Given the description of an element on the screen output the (x, y) to click on. 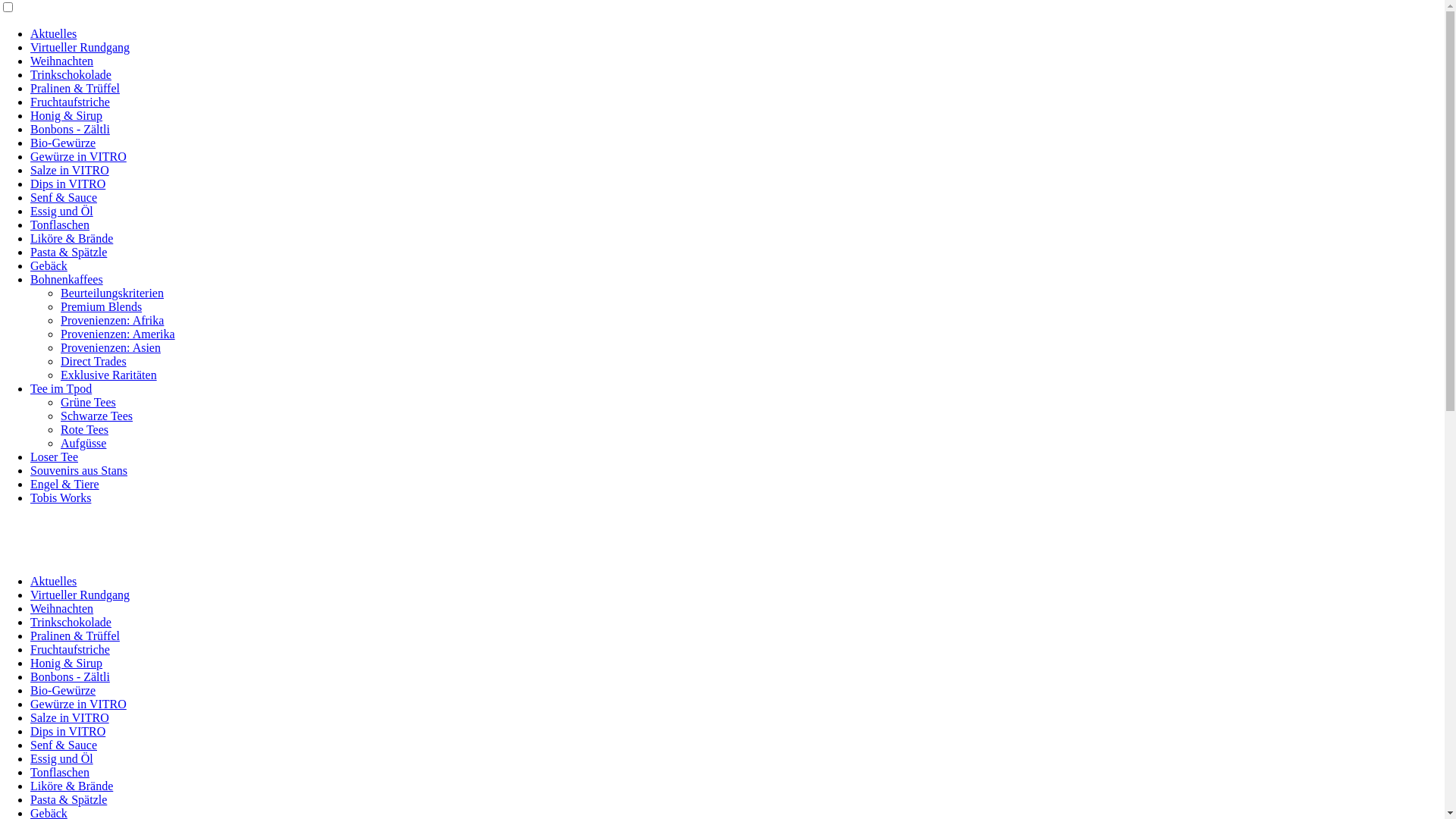
Honig & Sirup Element type: text (66, 115)
Honig & Sirup Element type: text (66, 662)
Schwarze Tees Element type: text (96, 415)
Dips in VITRO Element type: text (67, 183)
Virtueller Rundgang Element type: text (79, 594)
Fruchtaufstriche Element type: text (69, 649)
Engel & Tiere Element type: text (64, 483)
Provenienzen: Afrika Element type: text (111, 319)
Weihnachten Element type: text (61, 60)
Tonflaschen Element type: text (59, 224)
Premium Blends Element type: text (100, 306)
Aktuelles Element type: text (53, 33)
Senf & Sauce Element type: text (63, 197)
Aktuelles Element type: text (53, 580)
Bohnenkaffees Element type: text (66, 279)
Loser Tee Element type: text (54, 456)
Provenienzen: Asien Element type: text (110, 347)
Salze in VITRO Element type: text (69, 717)
Salze in VITRO Element type: text (69, 169)
Trinkschokolade Element type: text (70, 74)
Tobis Works Element type: text (60, 497)
Tonflaschen Element type: text (59, 771)
Senf & Sauce Element type: text (63, 744)
Rote Tees Element type: text (84, 429)
Dips in VITRO Element type: text (67, 730)
Souvenirs aus Stans Element type: text (78, 470)
Trinkschokolade Element type: text (70, 621)
Tee im Tpod Element type: text (60, 388)
Direct Trades Element type: text (93, 360)
Fruchtaufstriche Element type: text (69, 101)
Beurteilungskriterien Element type: text (111, 292)
Provenienzen: Amerika Element type: text (117, 333)
Virtueller Rundgang Element type: text (79, 46)
Weihnachten Element type: text (61, 608)
